Given the description of an element on the screen output the (x, y) to click on. 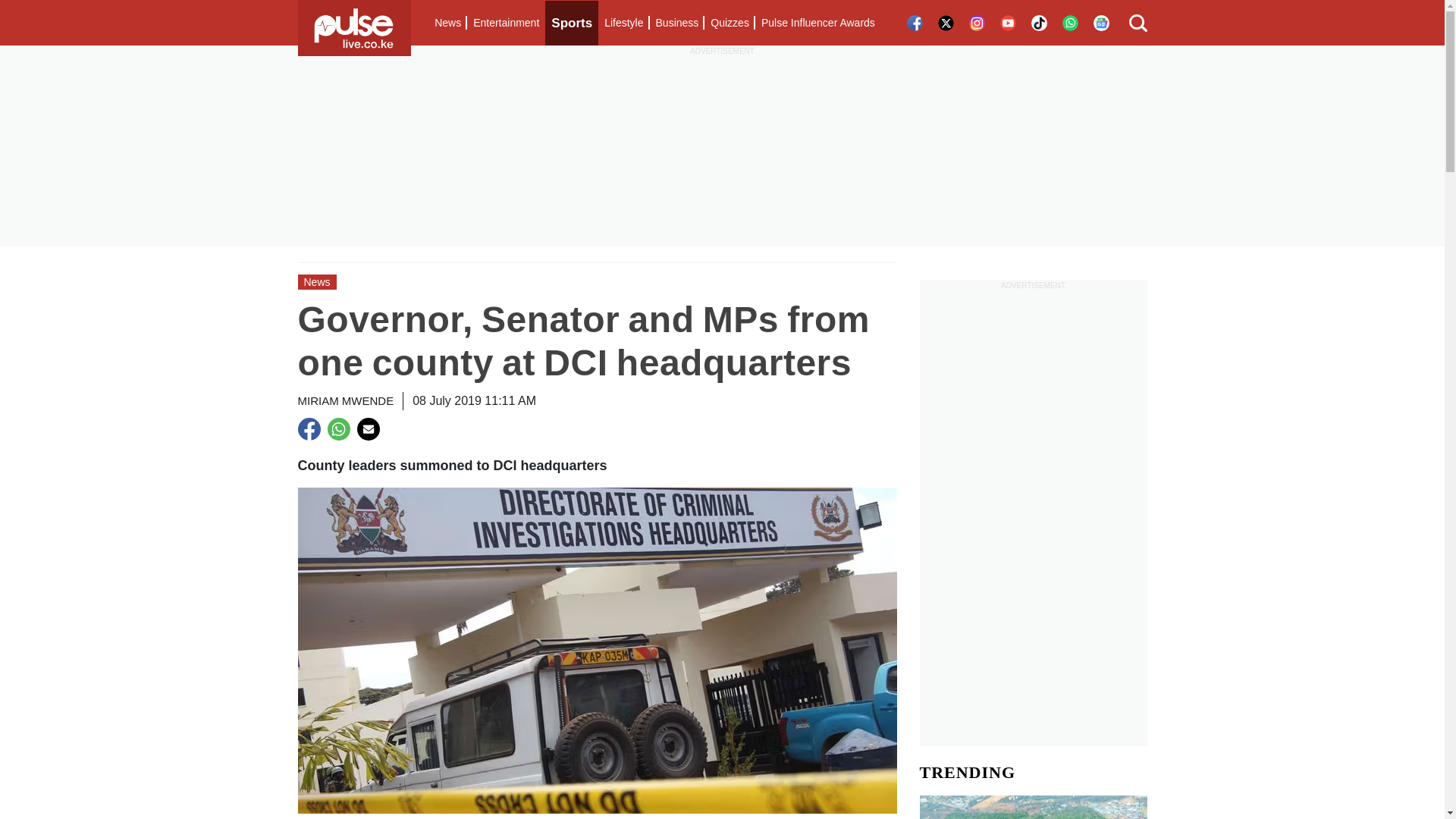
Entertainment (505, 22)
Lifestyle (623, 22)
Sports (571, 22)
Business (676, 22)
Quizzes (729, 22)
Pulse Influencer Awards (817, 22)
